Given the description of an element on the screen output the (x, y) to click on. 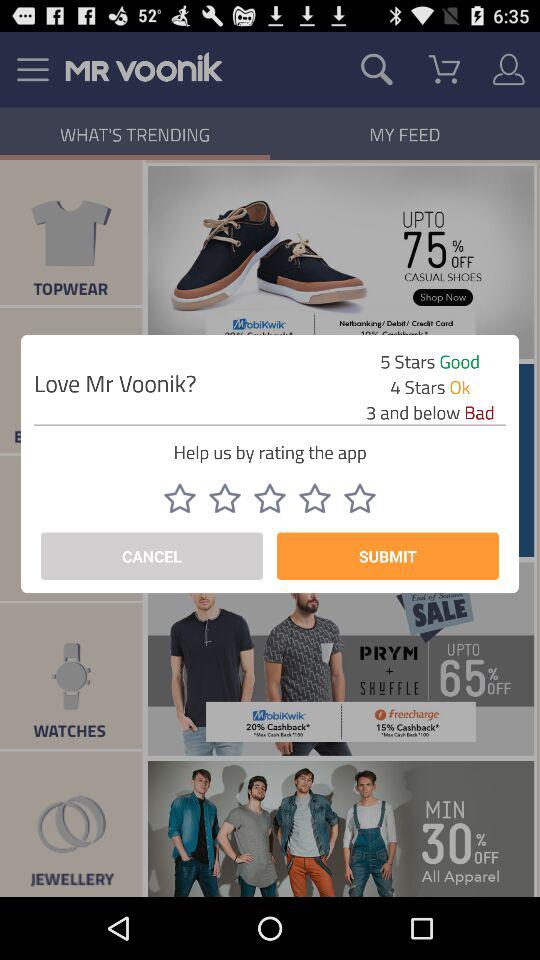
scroll to submit (387, 556)
